Given the description of an element on the screen output the (x, y) to click on. 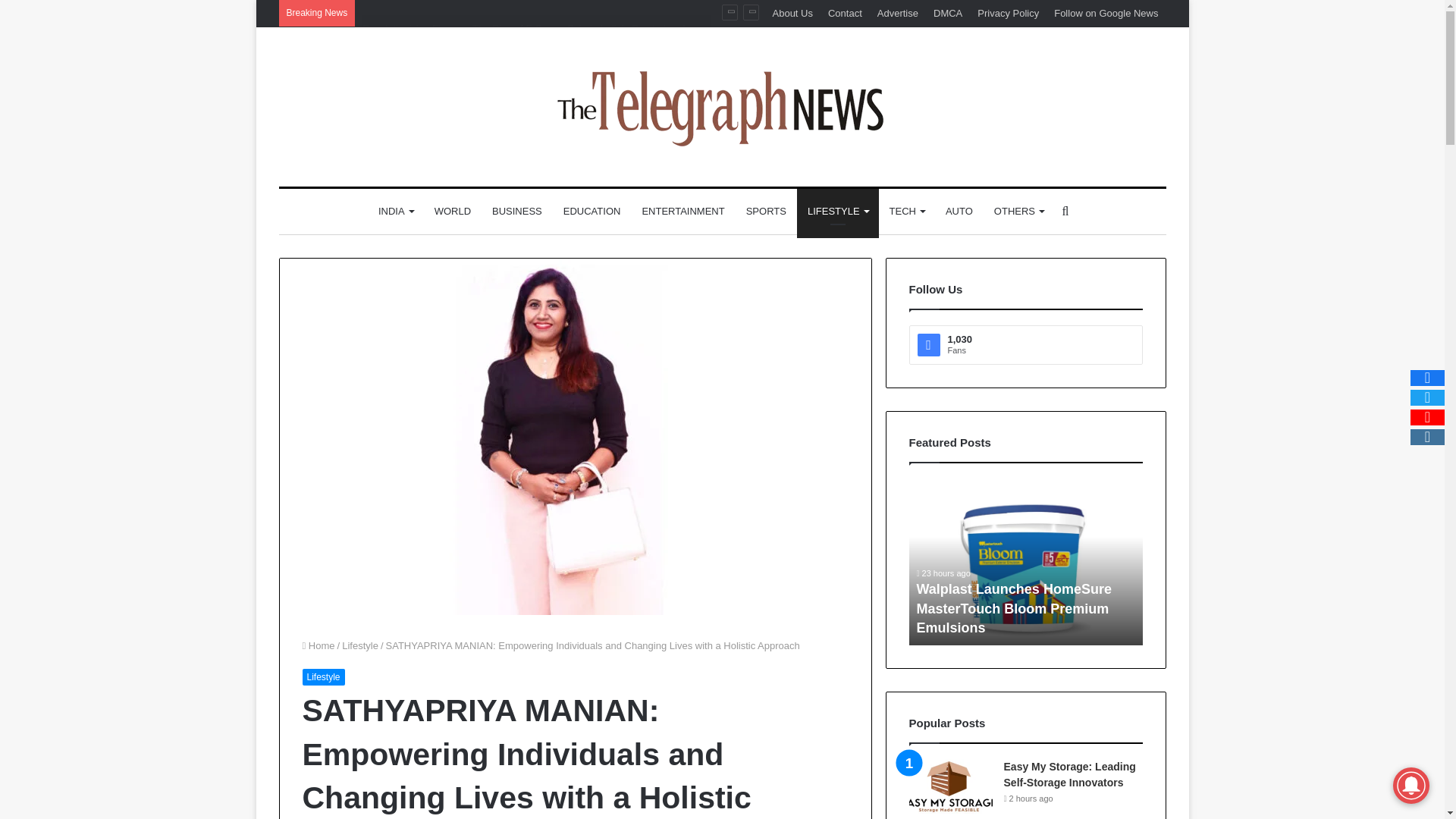
Contact (845, 13)
BUSINESS (517, 211)
Home (317, 645)
Follow on Google News (1106, 13)
Advertise (897, 13)
About Us (791, 13)
EDUCATION (592, 211)
AUTO (959, 211)
TECH (906, 211)
The Telegraph News (721, 106)
WORLD (452, 211)
Privacy Policy (1007, 13)
LIFESTYLE (837, 211)
SPORTS (765, 211)
OTHERS (1019, 211)
